Given the description of an element on the screen output the (x, y) to click on. 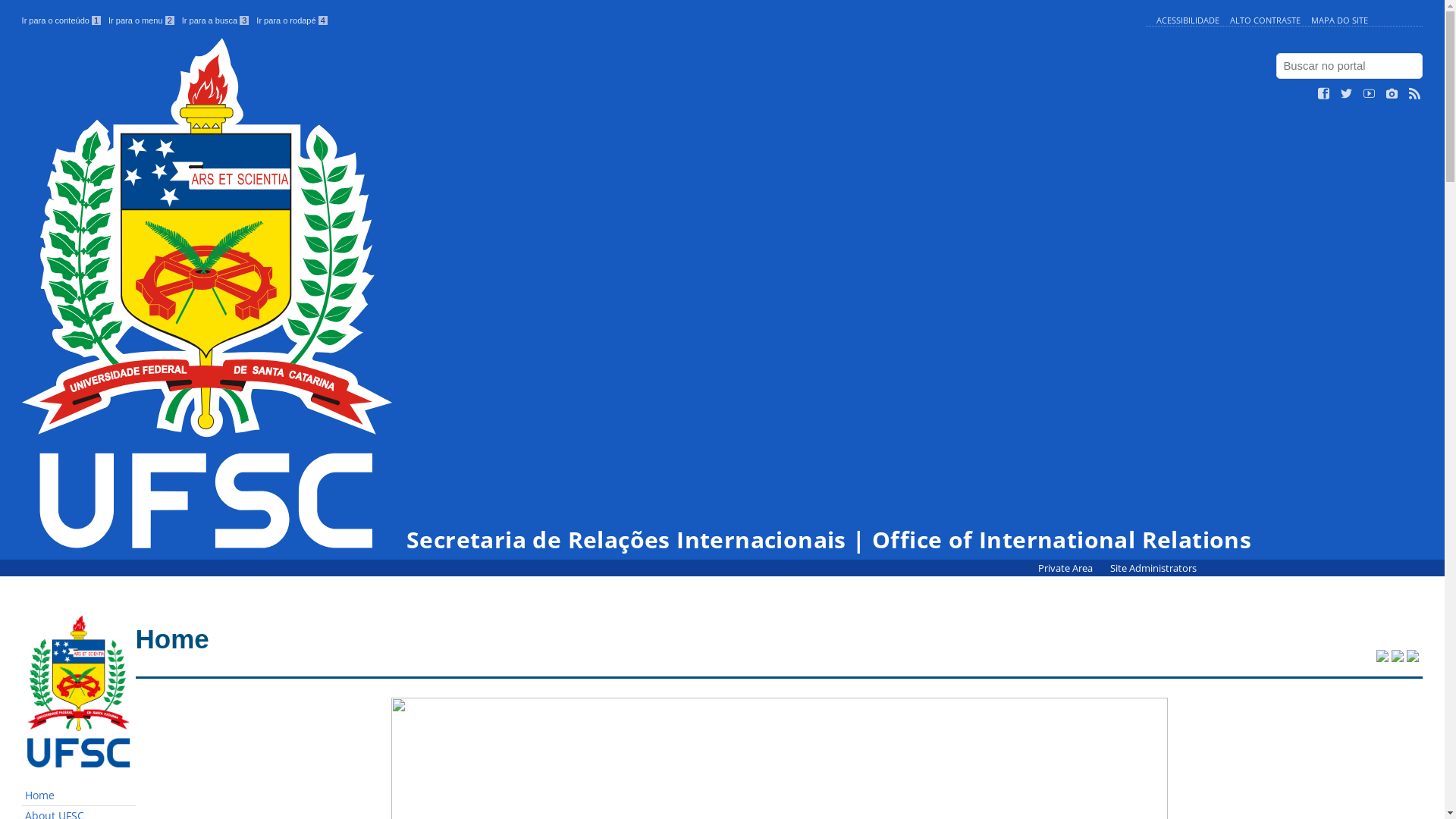
ACESSIBILIDADE Element type: text (1187, 19)
Siga no Twitter Element type: hover (1346, 93)
Ir para o menu 2 Element type: text (141, 20)
Compartilhar no Twitter Element type: hover (1382, 657)
Compartilhar no Facebook Element type: hover (1397, 657)
Private Area Element type: text (1065, 567)
Veja no Instagram Element type: hover (1392, 93)
Home Element type: text (172, 637)
Site Administrators Element type: text (1153, 567)
MAPA DO SITE Element type: text (1339, 19)
Curta no Facebook Element type: hover (1323, 93)
ALTO CONTRASTE Element type: text (1265, 19)
Home Element type: text (78, 795)
Compartilhar no WhatsApp Element type: hover (1412, 657)
Ir para a busca 3 Element type: text (215, 20)
